Given the description of an element on the screen output the (x, y) to click on. 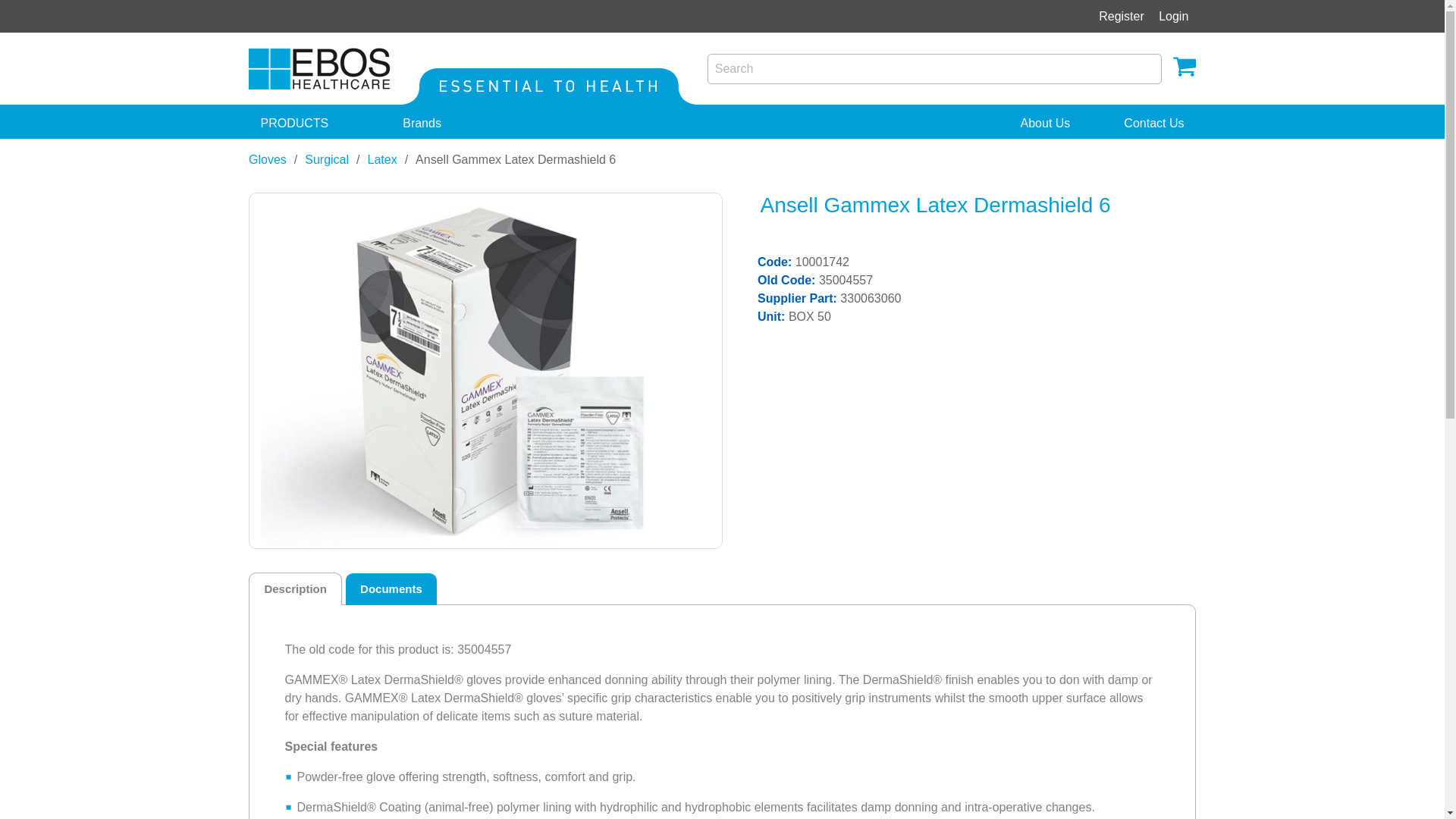
Search (933, 69)
Register (1121, 16)
Login (1173, 16)
PRODUCTS (304, 123)
